Given the description of an element on the screen output the (x, y) to click on. 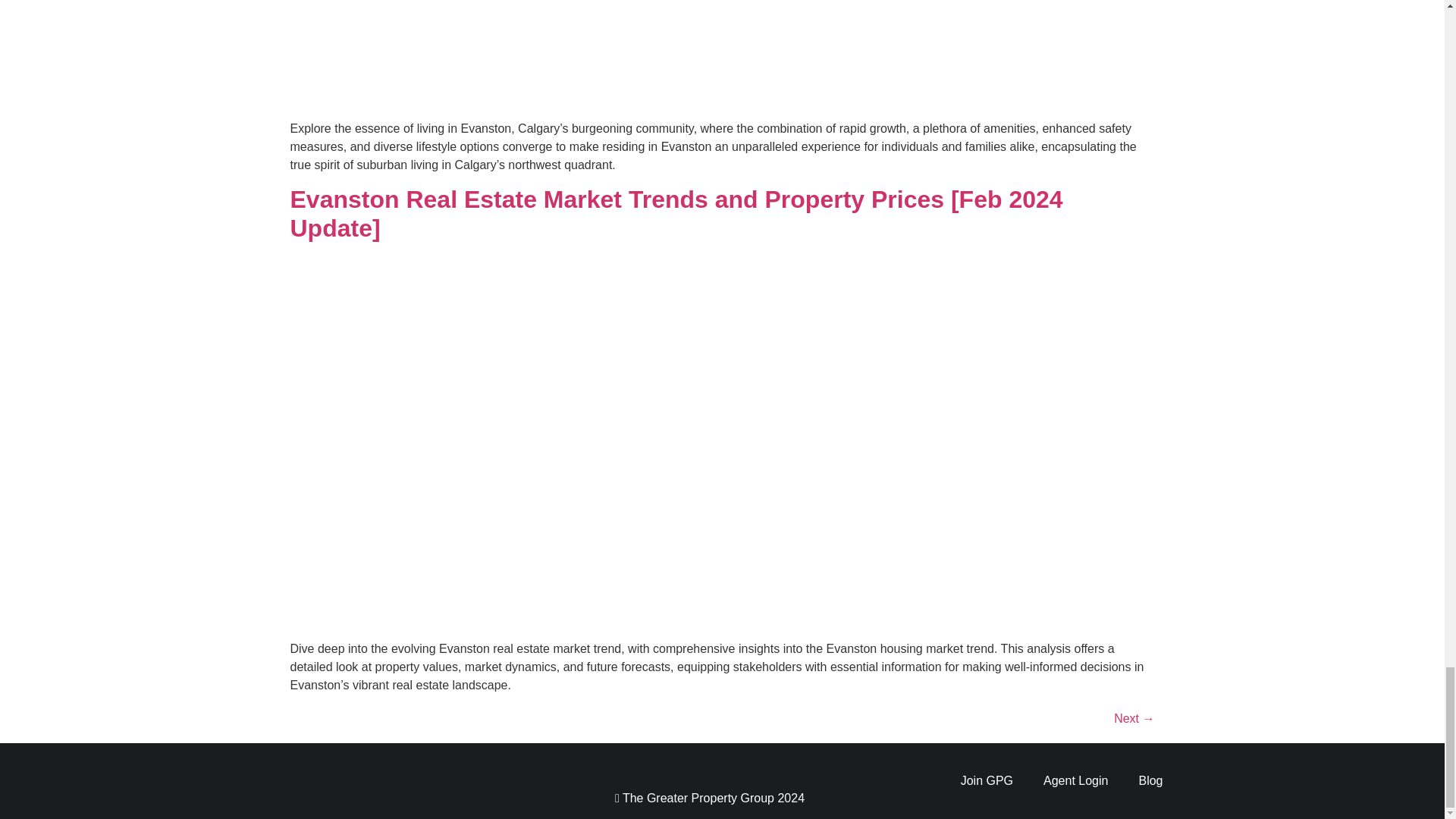
Agent Login (1074, 780)
Blog (1149, 780)
Join GPG (985, 780)
